Given the description of an element on the screen output the (x, y) to click on. 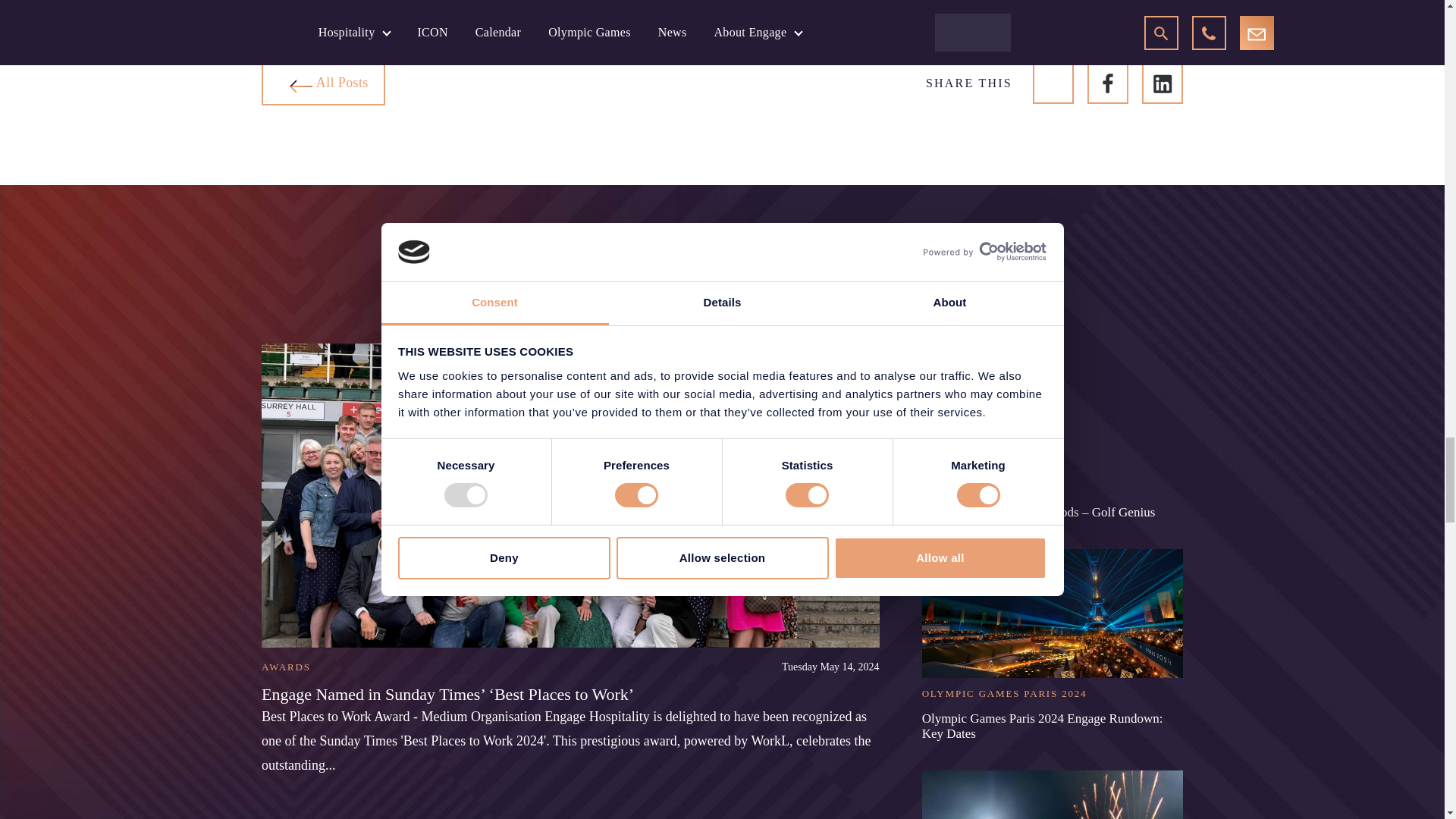
Share on LinkedIn (1161, 83)
Tweet this (1053, 83)
Share on Facebook (1107, 83)
